Given the description of an element on the screen output the (x, y) to click on. 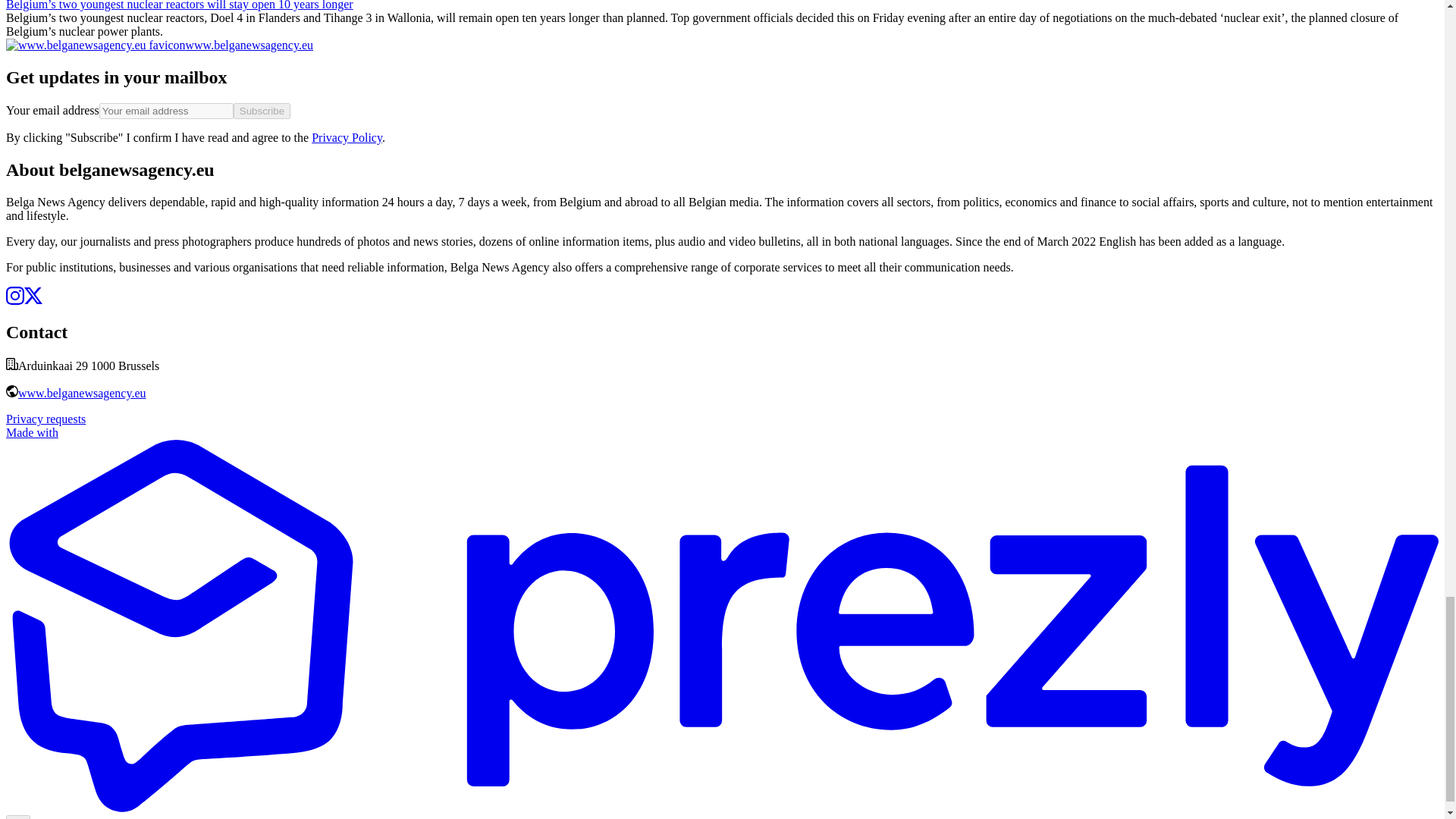
Instagram (14, 299)
Subscribe (260, 110)
Privacy Policy (346, 137)
www.belganewsagency.eu (159, 44)
X (33, 299)
www.belganewsagency.eu (82, 392)
Privacy requests (45, 418)
